Given the description of an element on the screen output the (x, y) to click on. 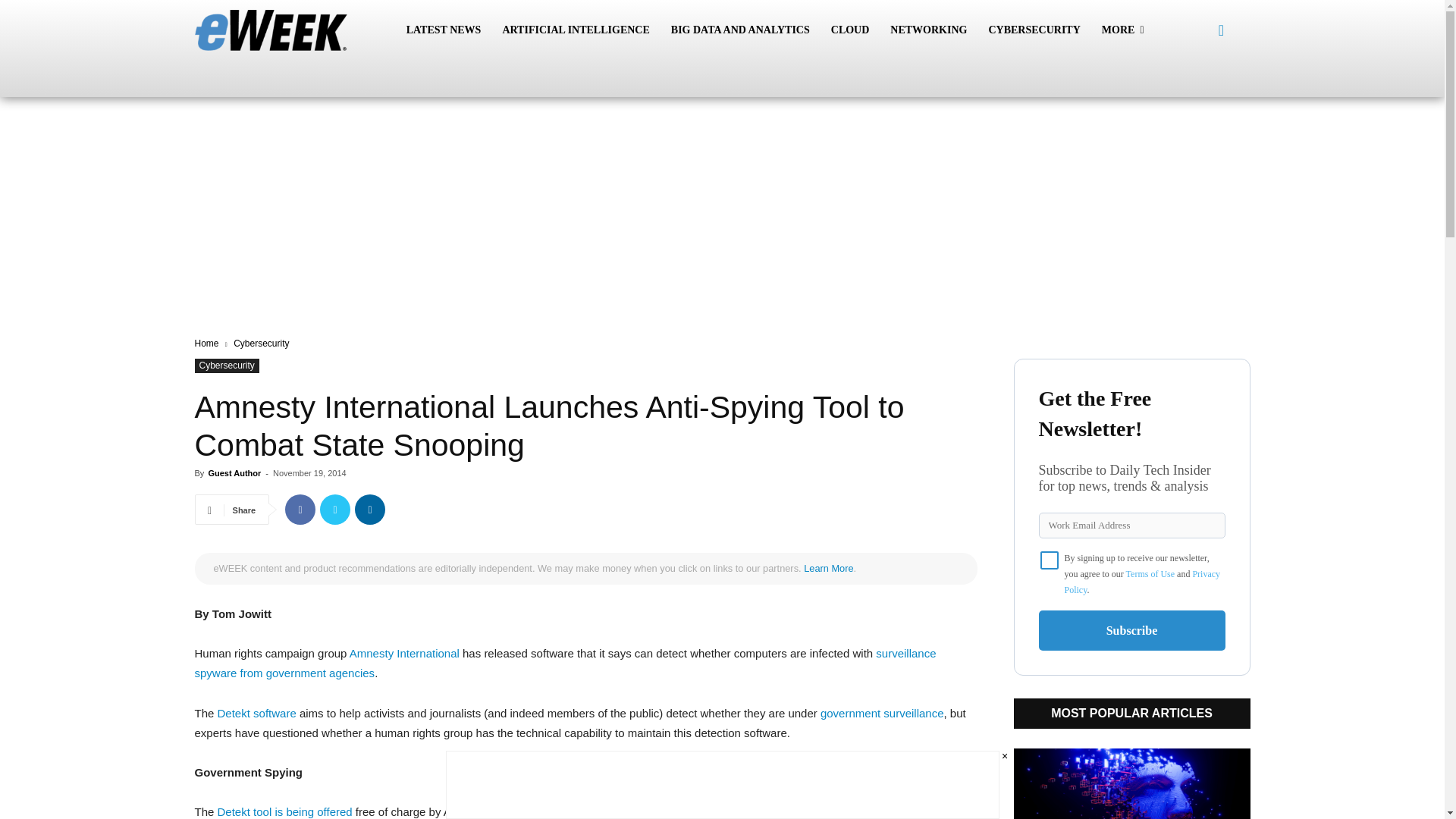
icloud-hack-china-spying (882, 712)
BIG DATA AND ANALYTICS (741, 30)
on (1049, 560)
Amnesty International Website Serves Malware For Two Days (404, 653)
NETWORKING (927, 30)
CLOUD (850, 30)
Twitter (335, 509)
Linkedin (370, 509)
CYBERSECURITY (1033, 30)
Facebook (300, 509)
LATEST NEWS (444, 30)
ARTIFICIAL INTELLIGENCE (575, 30)
